Given the description of an element on the screen output the (x, y) to click on. 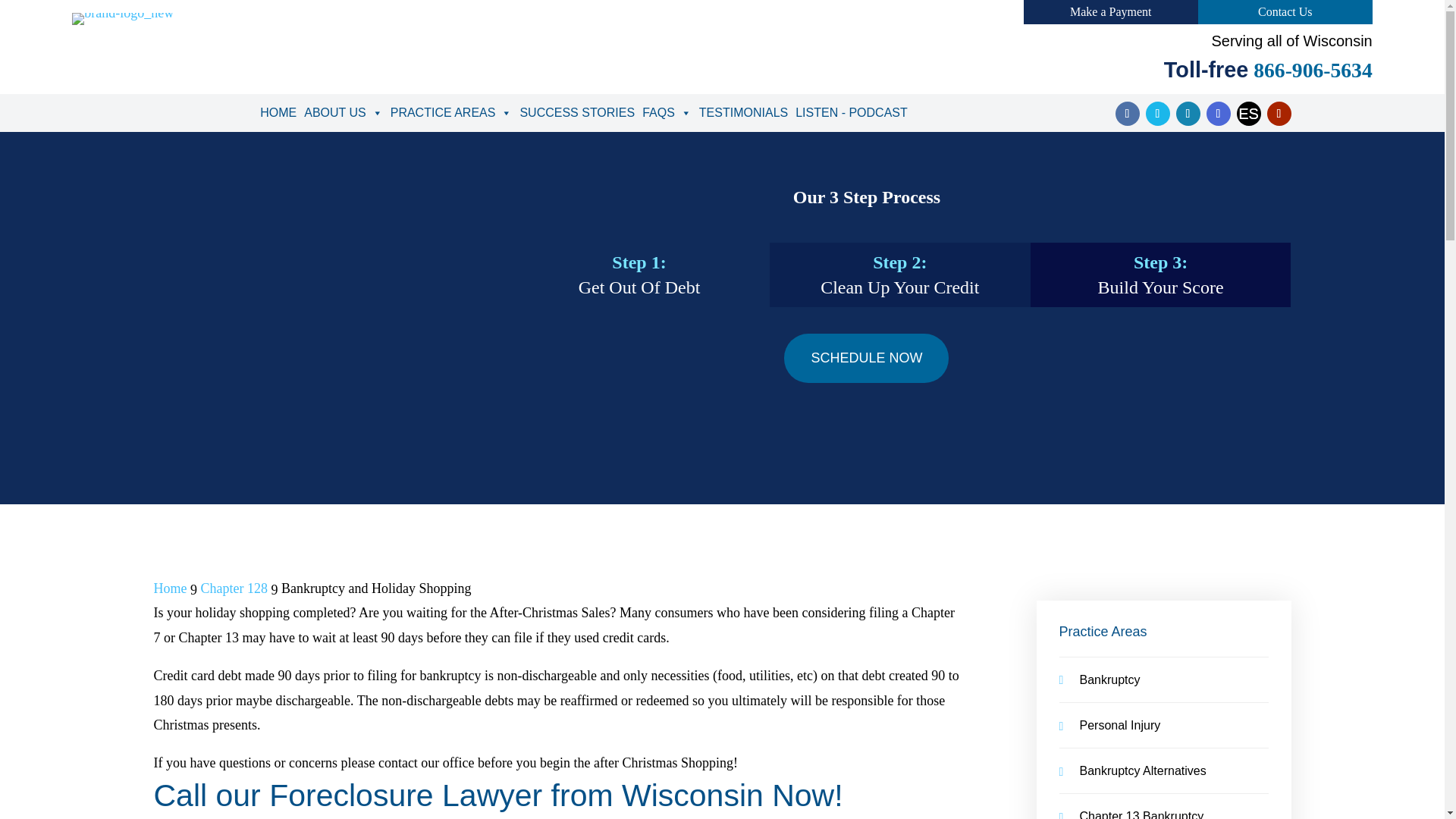
ABOUT US (343, 112)
Follow on Instagram (1217, 113)
Make a Payment (1110, 11)
Follow on X (1156, 113)
Follow on Facebook (1126, 113)
Follow on Youtube (1278, 113)
Follow on Vimeo (1248, 113)
PRACTICE AREAS (451, 112)
HOME (277, 112)
866-906-5634 (1309, 69)
